Given the description of an element on the screen output the (x, y) to click on. 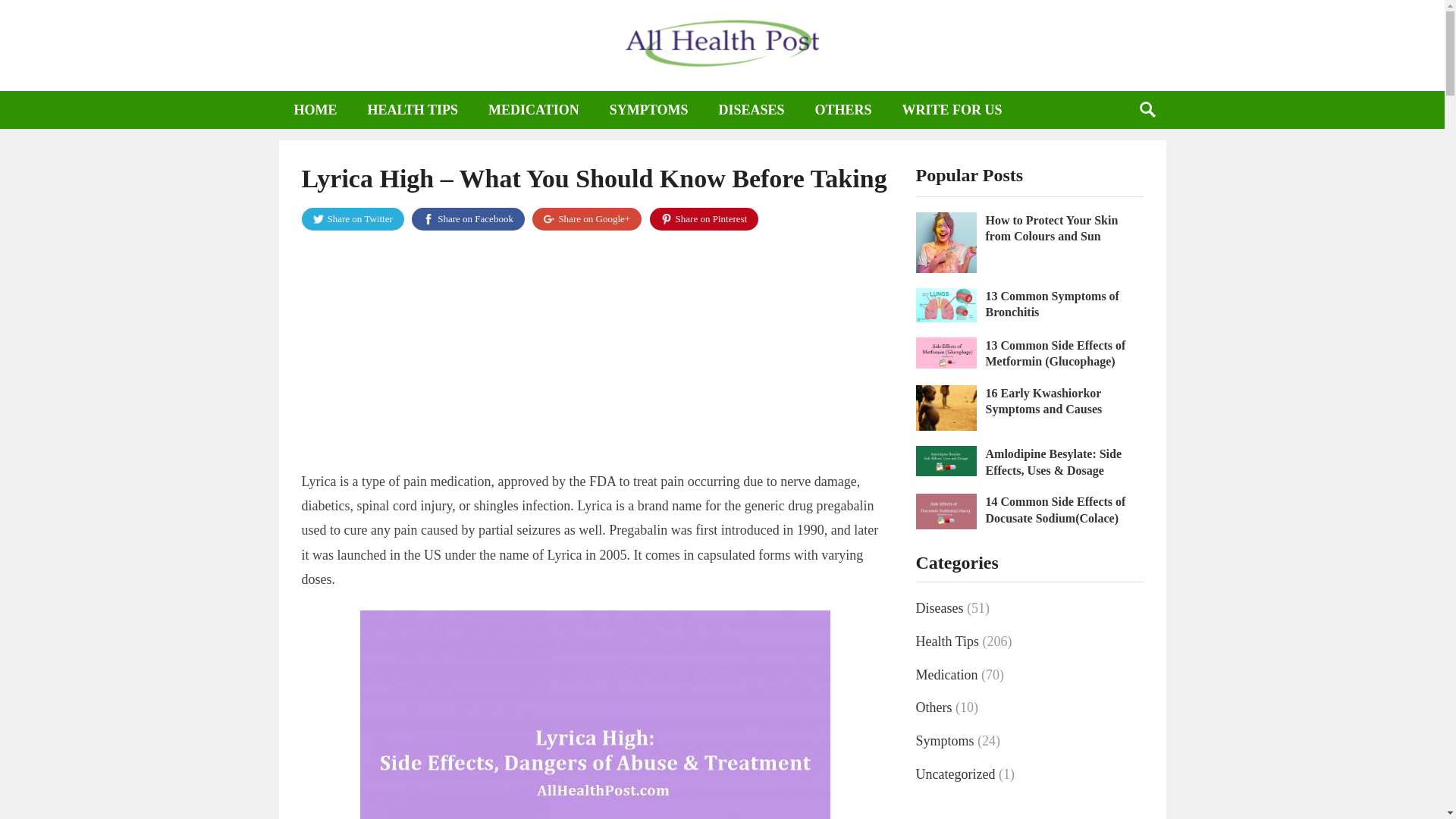
OTHERS (842, 109)
Share on Facebook (468, 219)
HOME (315, 109)
WRITE FOR US (951, 109)
SYMPTOMS (648, 109)
MEDICATION (533, 109)
Share on Pinterest (703, 219)
Advertisement (595, 354)
HEALTH TIPS (412, 109)
Share on Twitter (352, 219)
DISEASES (751, 109)
